Given the description of an element on the screen output the (x, y) to click on. 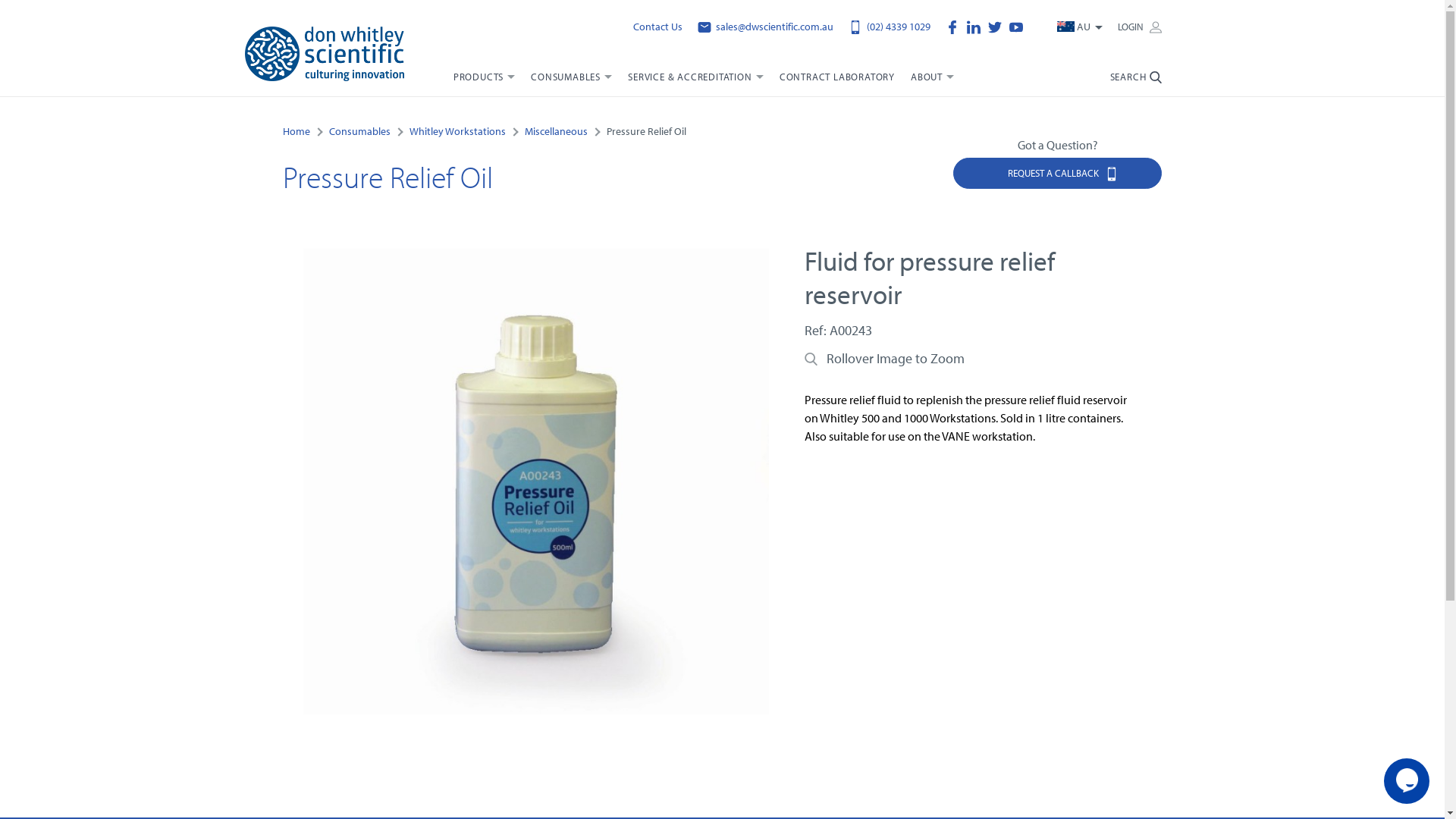
Contact Us Element type: text (657, 26)
SEARCH Element type: text (1135, 83)
Consumables Element type: text (359, 130)
CONSUMABLES Element type: text (571, 83)
(02) 4339 1029 Element type: text (889, 26)
ABOUT Element type: text (931, 83)
Home Element type: text (295, 130)
PRODUCTS Element type: text (484, 83)
Whitley Workstations Element type: text (457, 130)
CONTRACT LABORATORY Element type: text (836, 83)
AU Element type: text (1079, 26)
LOGIN Element type: text (1139, 26)
SERVICE & ACCREDITATION Element type: text (695, 83)
sales@dwscientific.com.au Element type: text (765, 26)
REQUEST A CALLBACK Element type: text (1057, 172)
Miscellaneous Element type: text (555, 130)
